Given the description of an element on the screen output the (x, y) to click on. 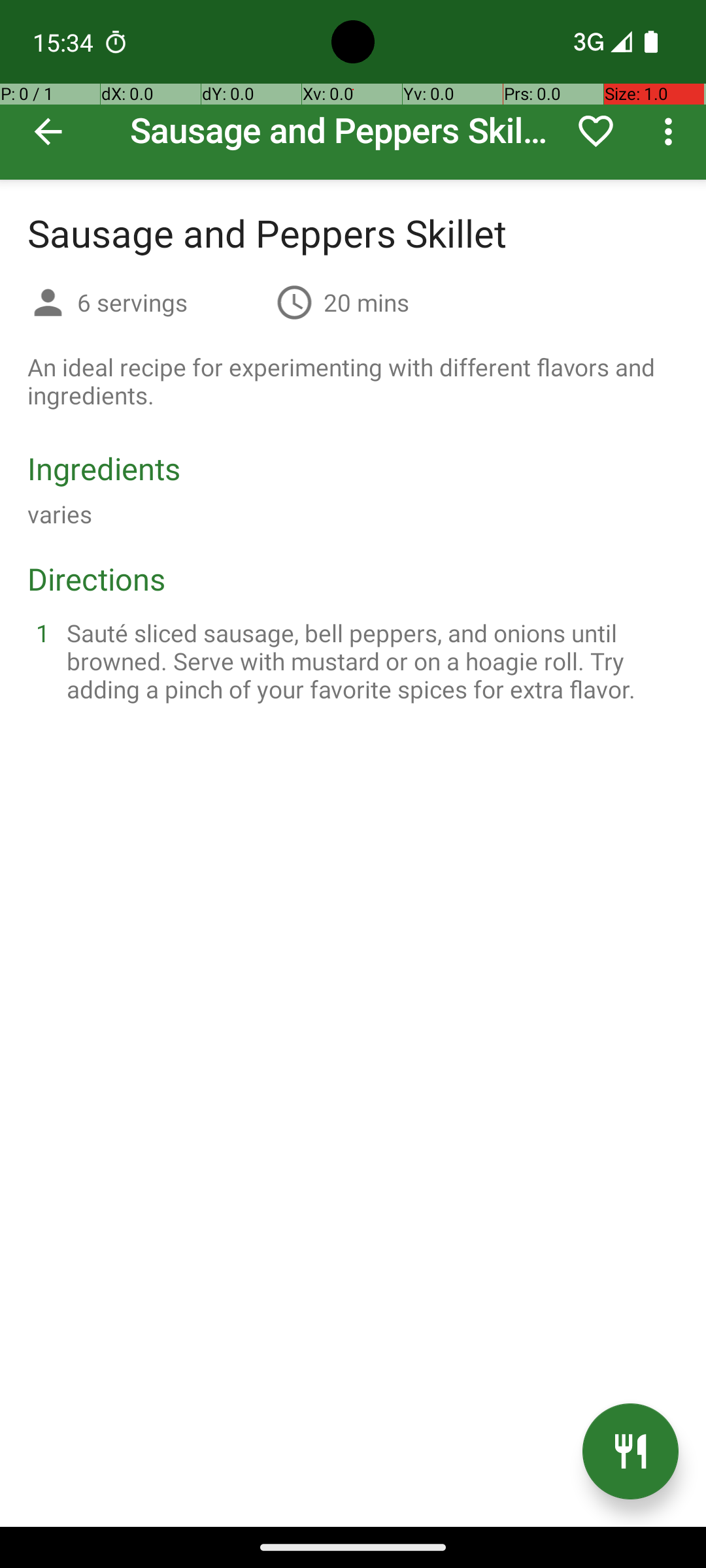
Sauté sliced sausage, bell peppers, and onions until browned. Serve with mustard or on a hoagie roll. Try adding a pinch of your favorite spices for extra flavor. Element type: android.widget.TextView (368, 660)
